Given the description of an element on the screen output the (x, y) to click on. 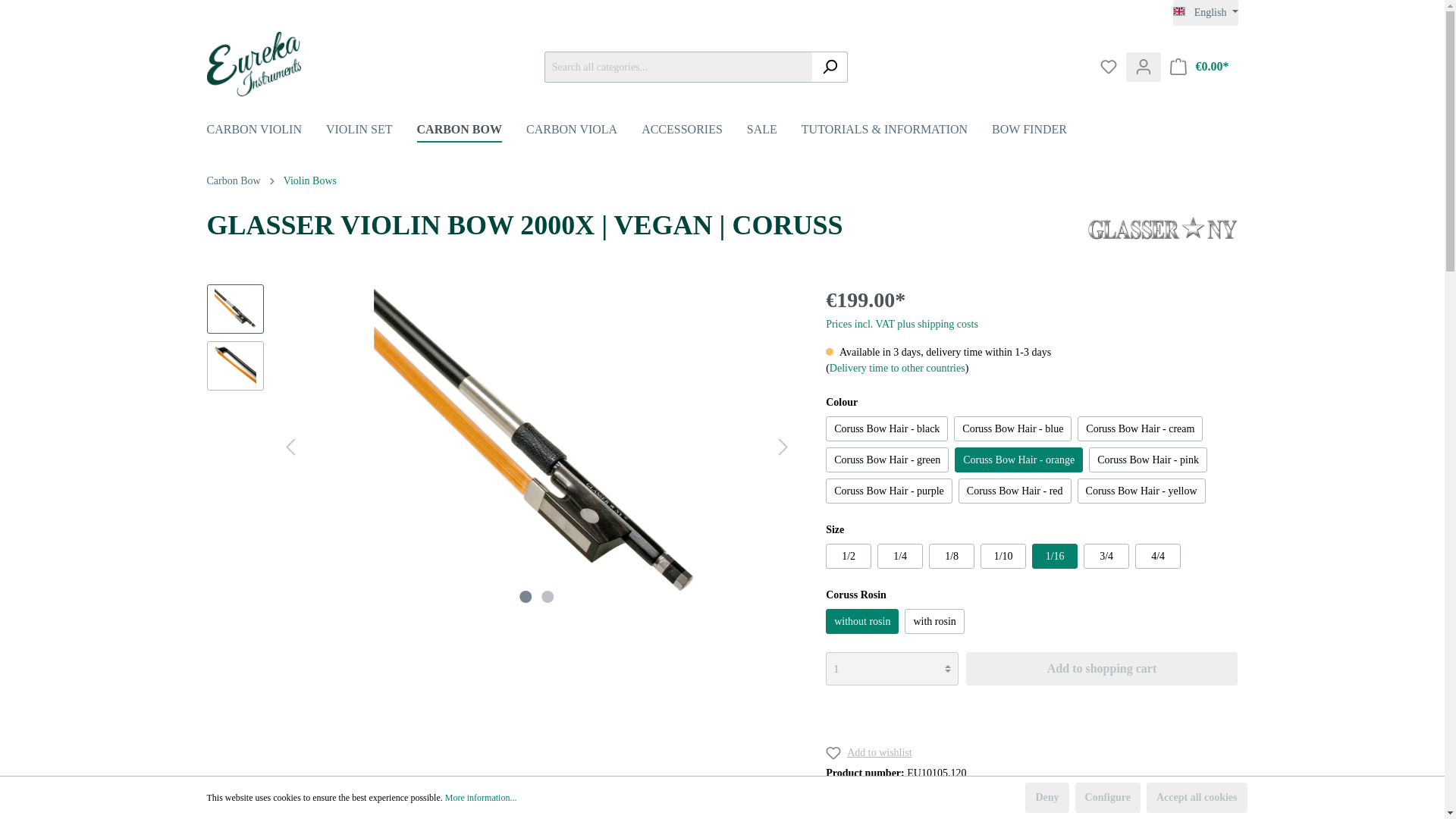
SALE (774, 131)
ACCESSORIES (694, 131)
Shopping cart (1199, 66)
CARBON VIOLIN (265, 131)
BOW FINDER (1040, 131)
English (1205, 12)
Go to homepage (252, 63)
Violin Set (371, 131)
Carbon Violin (265, 131)
CARBON VIOLA (583, 131)
Carbon Bow (470, 131)
Sale (774, 131)
My account (1142, 66)
Wishlist (1107, 66)
CARBON BOW (470, 131)
